Given the description of an element on the screen output the (x, y) to click on. 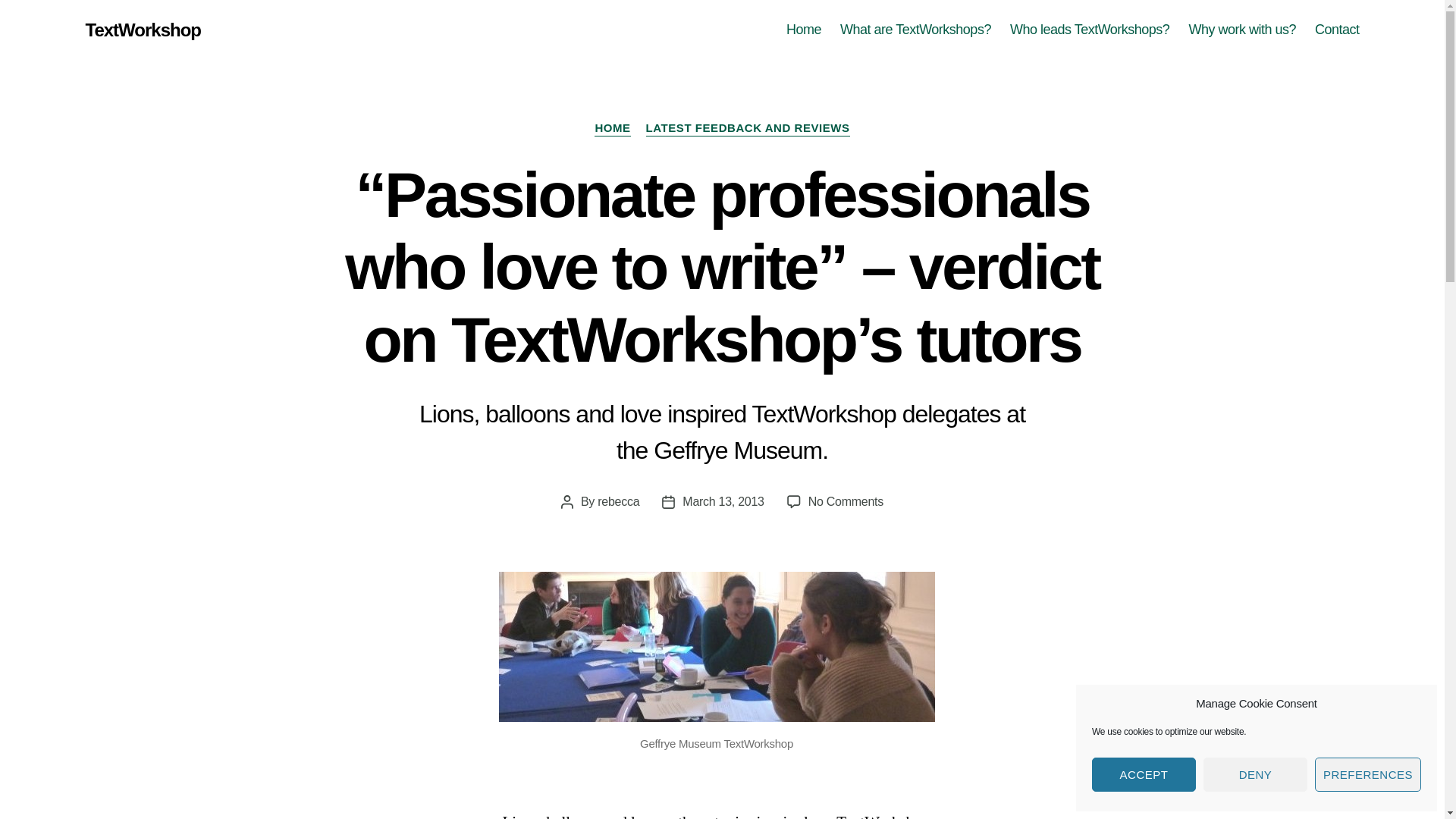
TextWorkshop (142, 30)
Who leads TextWorkshops? (1089, 30)
March 13, 2013 (722, 501)
rebecca (617, 501)
What are TextWorkshops? (915, 30)
HOME (612, 128)
LATEST FEEDBACK AND REVIEWS (748, 128)
Why work with us? (1241, 30)
PREFERENCES (1367, 774)
ACCEPT (1143, 774)
